Given the description of an element on the screen output the (x, y) to click on. 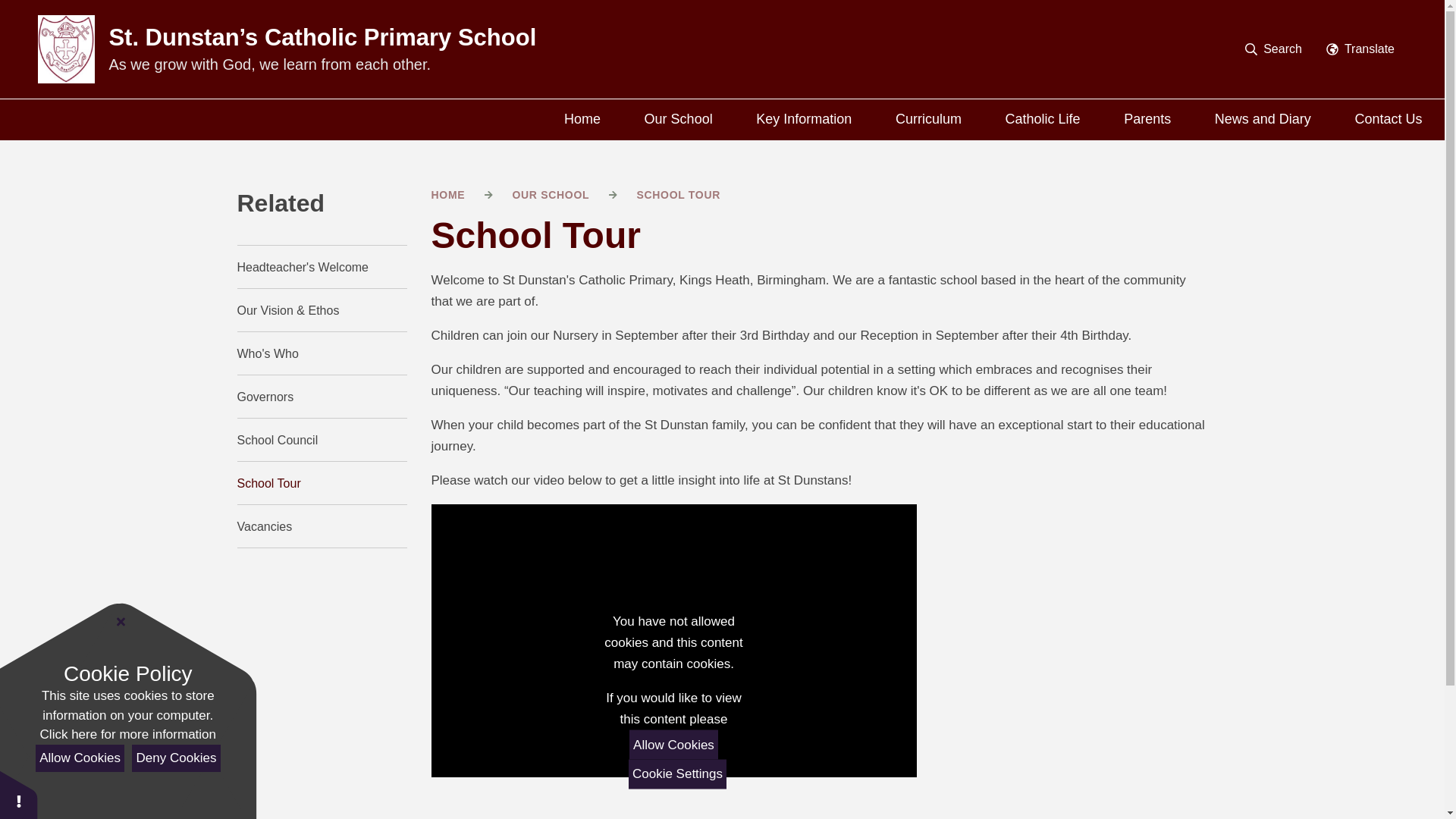
Translate (1360, 48)
Our School (679, 119)
See cookie policy (127, 734)
Deny Cookies (175, 758)
Search (1273, 48)
Search (1377, 95)
Allow Cookies (78, 758)
Home (582, 119)
Key Information (803, 119)
